Given the description of an element on the screen output the (x, y) to click on. 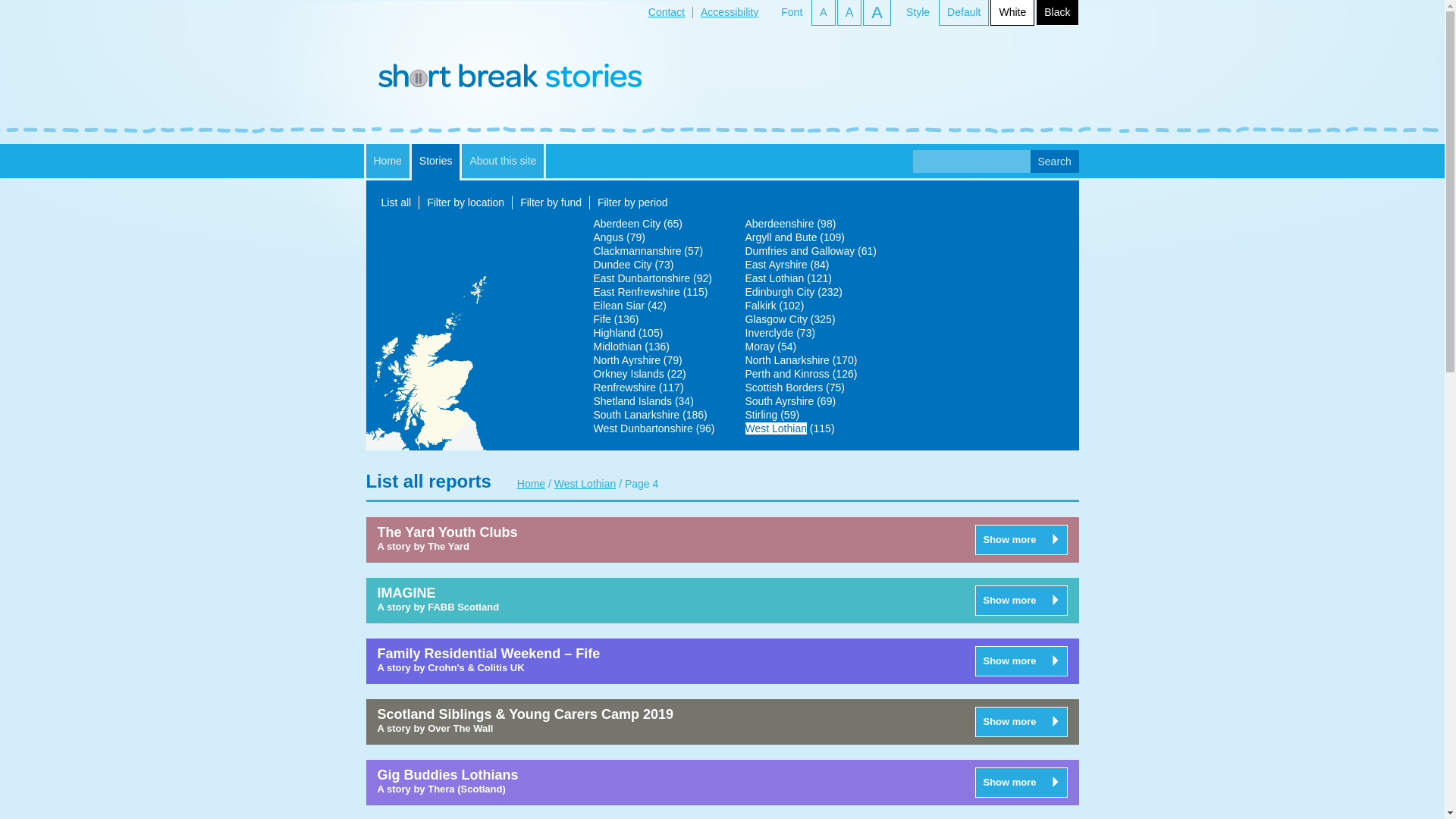
White (1011, 12)
Filter by period (632, 202)
Home (387, 161)
North Lanarkshire (786, 359)
Filter by fund (549, 202)
A (822, 12)
Fife (601, 318)
Contact (665, 11)
North Ayrshire (625, 359)
Glasgow City (775, 318)
East Dunbartonshire (641, 277)
Aberdeen City (626, 223)
Filter by location (464, 202)
Search (1053, 160)
Stories (436, 162)
